Given the description of an element on the screen output the (x, y) to click on. 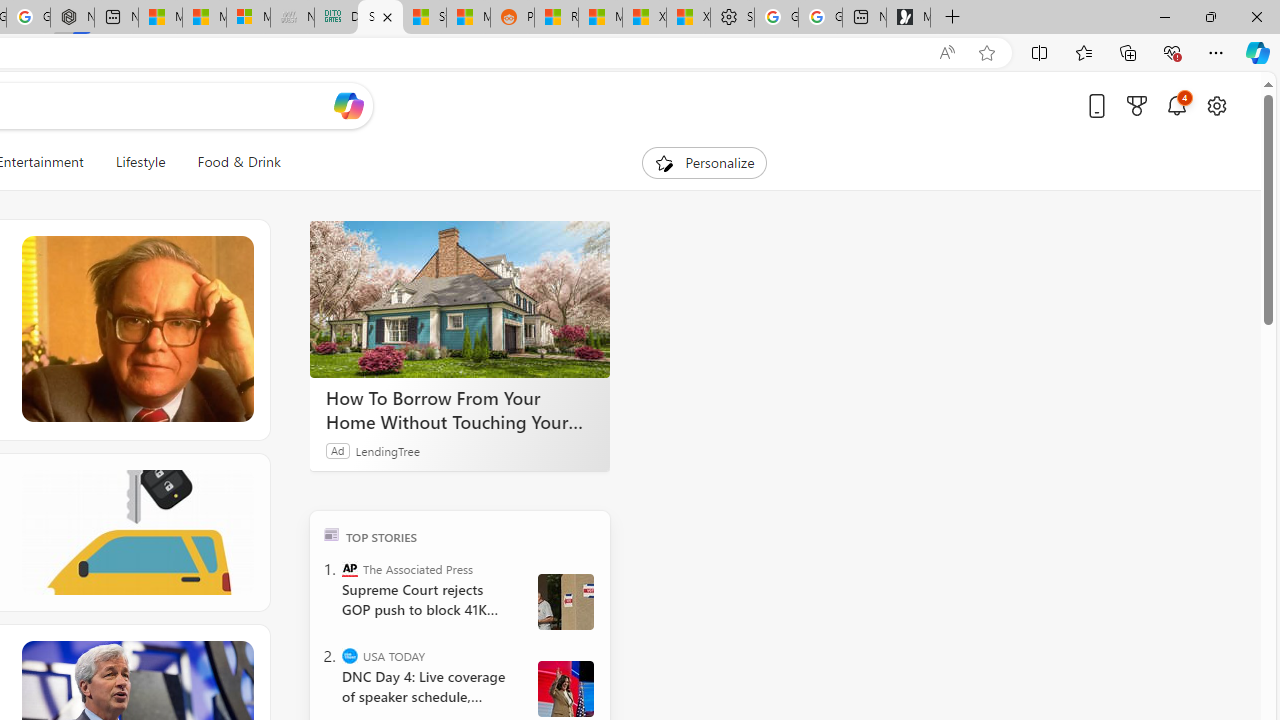
Food & Drink (239, 162)
R******* | Trusted Community Engagement and Contributions (556, 17)
See more (239, 654)
Open settings (1216, 105)
USA TODAY (349, 655)
Microsoft Start Gaming (908, 17)
LendingTree (387, 450)
